Given the description of an element on the screen output the (x, y) to click on. 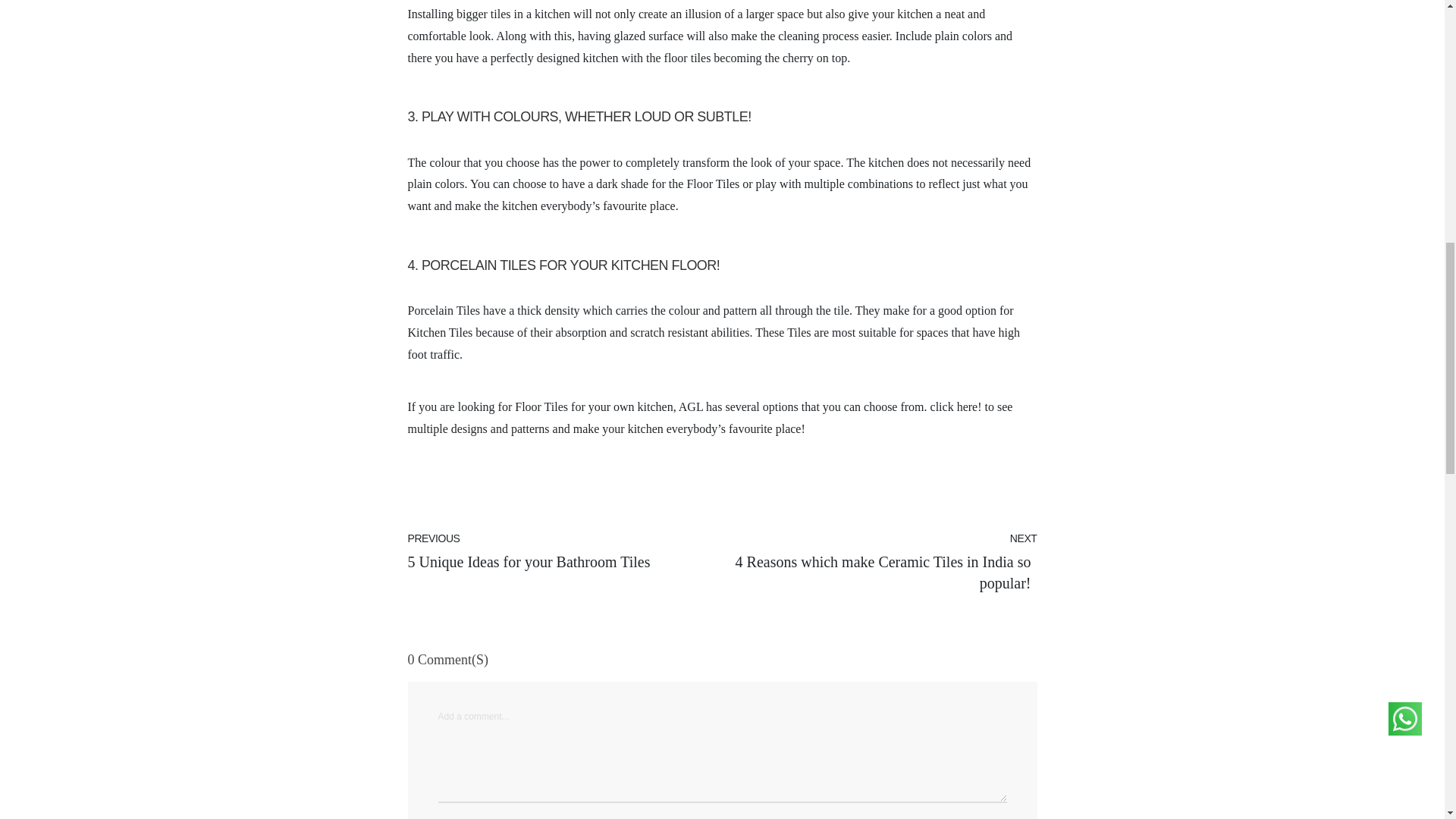
Read 5 Unique Ideas for your Bathroom Tiles (564, 562)
Read 4 Reasons which make Ceramic Tiles in India so popular! (879, 562)
